Given the description of an element on the screen output the (x, y) to click on. 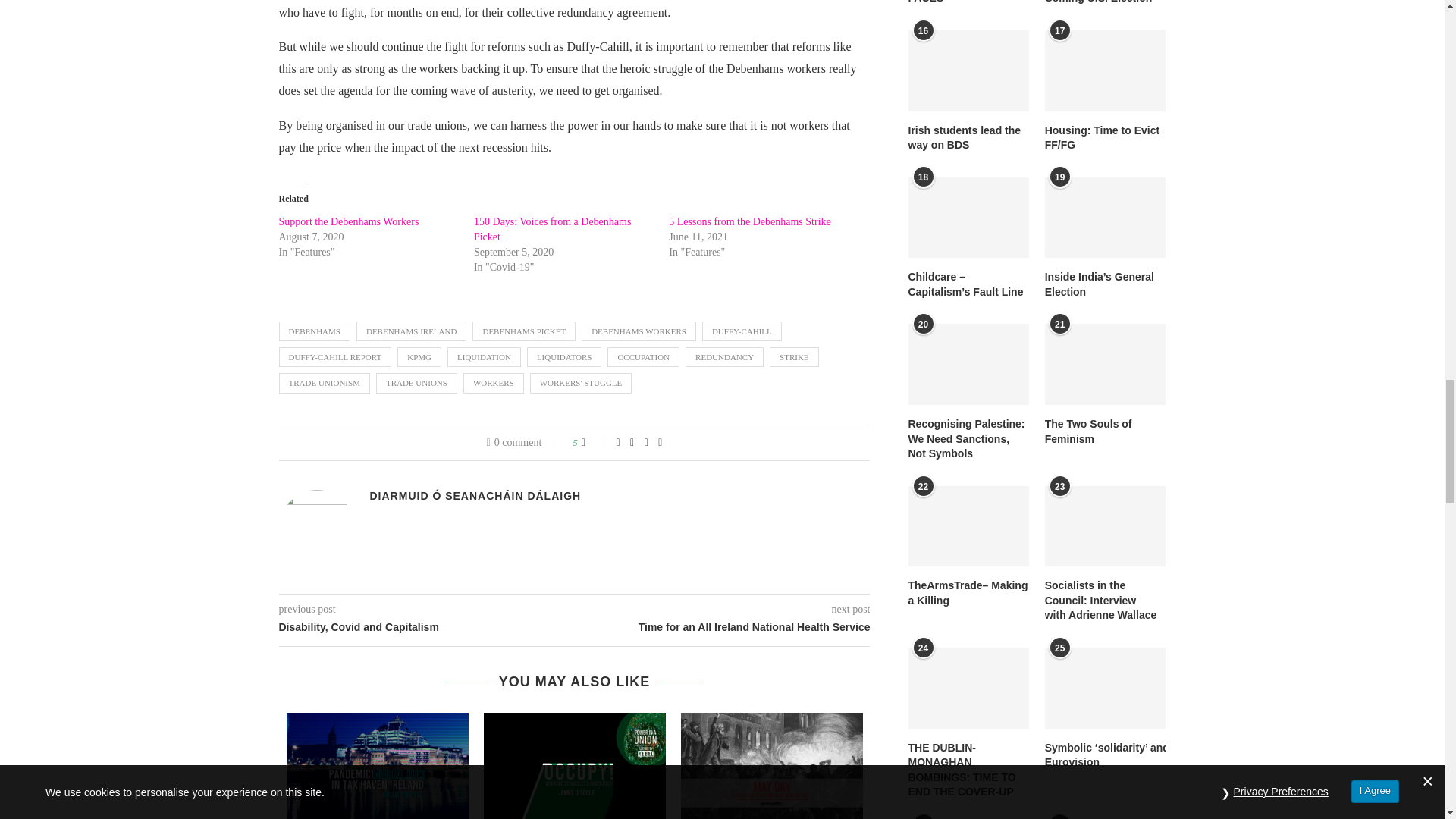
150 Days: Voices from a Debenhams Picket (552, 229)
Support the Debenhams Workers (349, 221)
Like (592, 442)
Pandemic Inequalities in Tax Haven Ireland (377, 765)
5 Lessons from the Debenhams Strike (748, 221)
